Given the description of an element on the screen output the (x, y) to click on. 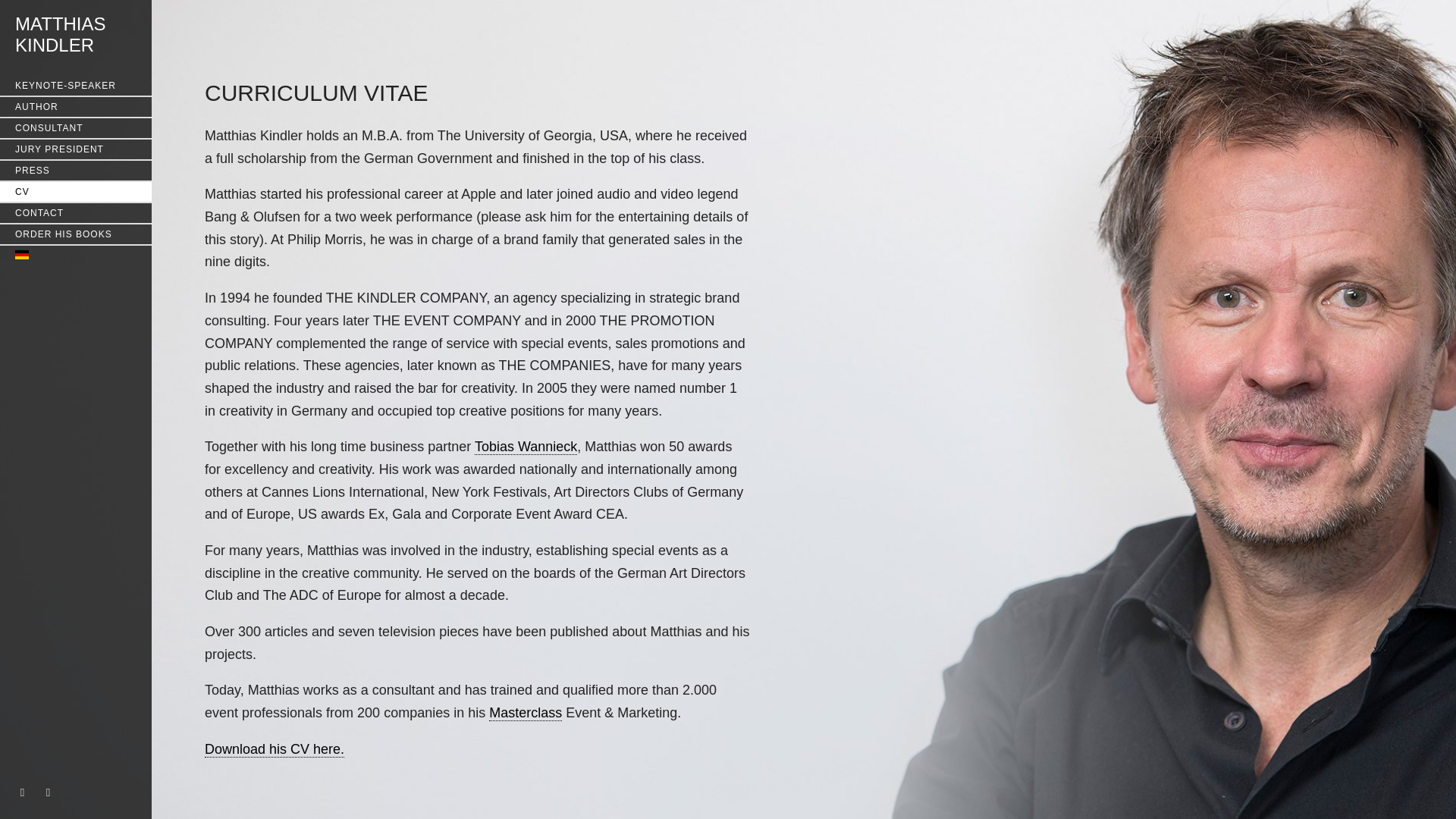
CONTACT (60, 34)
Masterclass (75, 212)
JURY PRESIDENT (525, 713)
KEYNOTE-SPEAKER (75, 148)
CONSULTANT (75, 85)
Download his CV here. (75, 127)
PRESS (274, 749)
ORDER HIS BOOKS (75, 170)
AUTHOR (75, 234)
